Given the description of an element on the screen output the (x, y) to click on. 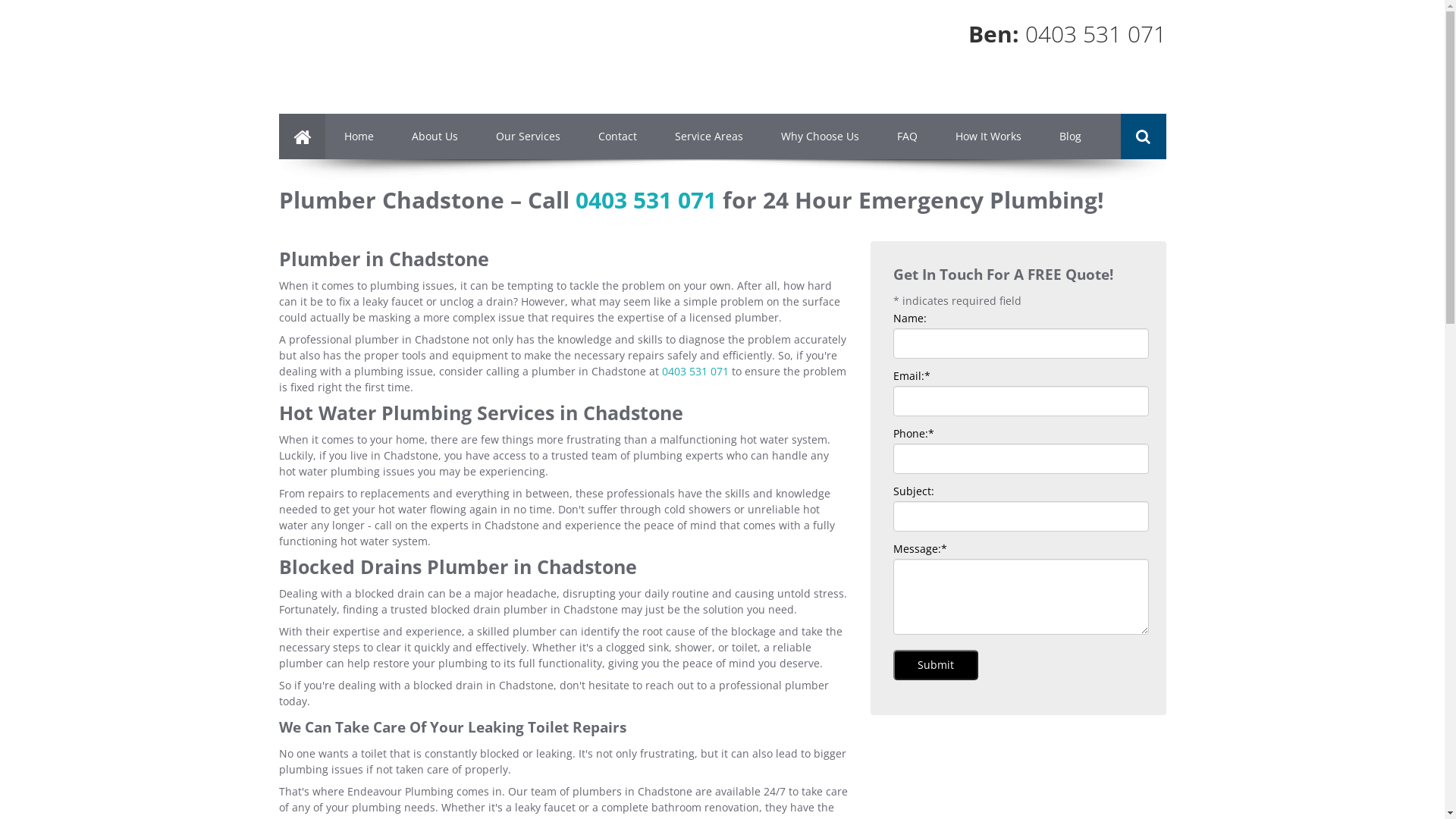
0403 531 071 Element type: text (644, 199)
Home Element type: text (358, 136)
0403 531 071 Element type: text (694, 371)
Service Areas Element type: text (708, 136)
Ben: 0403 531 071 Element type: text (1066, 33)
Our Services Element type: text (527, 136)
Submit Element type: text (935, 664)
Contact Element type: text (617, 136)
Why Choose Us Element type: text (819, 136)
About Us Element type: text (434, 136)
Blog Element type: text (1070, 136)
FAQ Element type: text (907, 136)
How It Works Element type: text (987, 136)
